Given the description of an element on the screen output the (x, y) to click on. 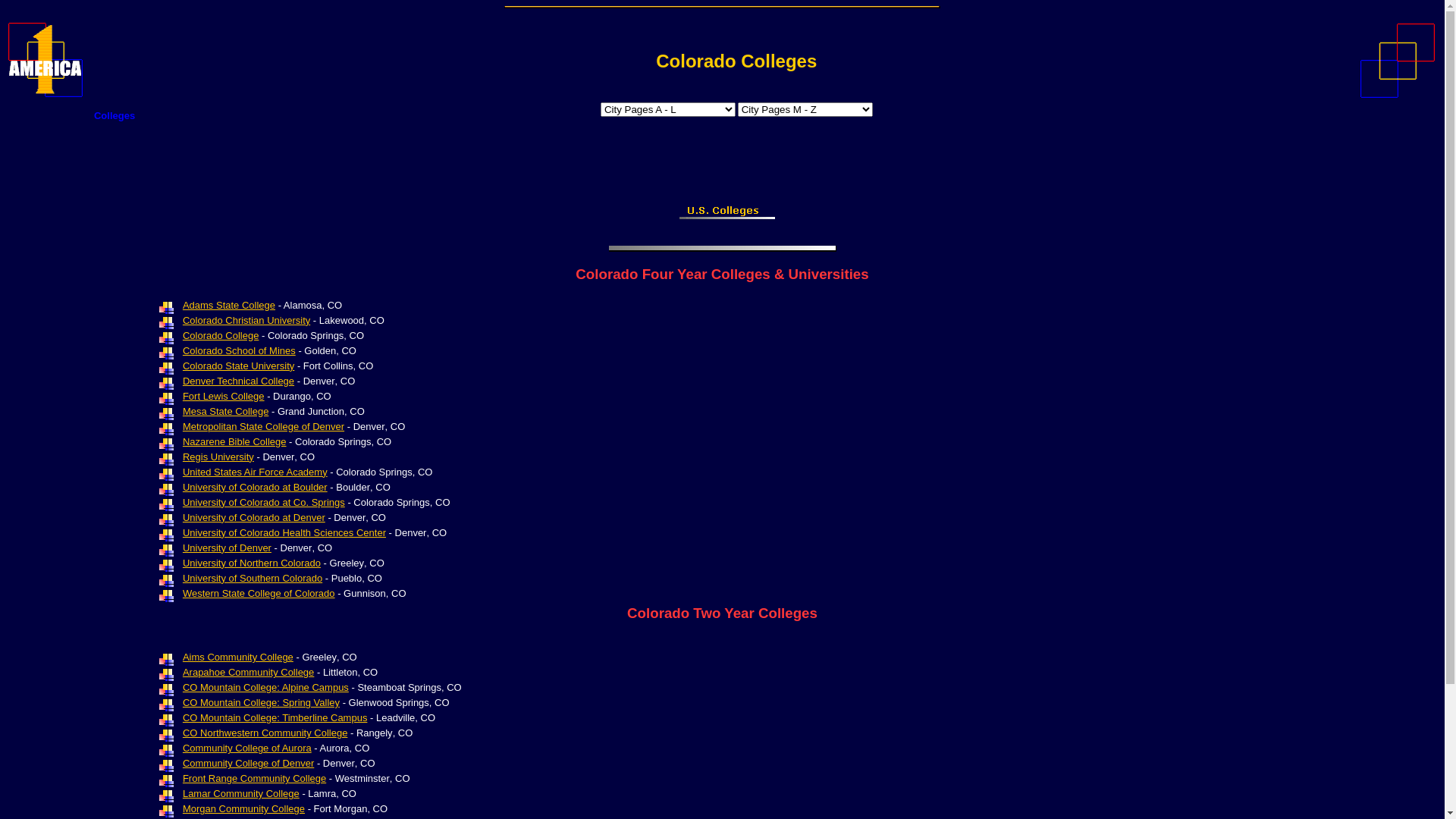
University of Colorado at Co. Springs Element type: text (263, 502)
University of Southern Colorado Element type: text (252, 577)
Western State College of Colorado Element type: text (258, 593)
Colorado Christian University Element type: text (246, 320)
Community College of Denver Element type: text (247, 762)
Arapahoe Community College Element type: text (247, 671)
Mesa State College Element type: text (225, 411)
Adams State College Element type: text (228, 304)
University of Colorado Health Sciences Center Element type: text (283, 532)
Metropolitan State College of Denver Element type: text (263, 426)
University of Northern Colorado Element type: text (251, 562)
Fort Lewis College Element type: text (223, 395)
Nazarene Bible College Element type: text (234, 441)
University of Denver Element type: text (226, 547)
CO Northwestern Community College Element type: text (264, 732)
Colorado State University Element type: text (238, 365)
United States Air Force Academy Element type: text (254, 471)
CO Mountain College: Timberline Campus Element type: text (274, 717)
CO Mountain College: Spring Valley Element type: text (260, 702)
University of Colorado at Boulder Element type: text (254, 486)
Colorado School of Mines Element type: text (238, 350)
Aims Community College Element type: text (237, 656)
Front Range Community College Element type: text (254, 778)
Regis University Element type: text (218, 456)
University of Colorado at Denver Element type: text (253, 517)
Morgan Community College Element type: text (243, 808)
Colorado College Element type: text (220, 335)
Lamar Community College Element type: text (240, 793)
Community College of Aurora Element type: text (246, 747)
Denver Technical College Element type: text (238, 380)
CO Mountain College: Alpine Campus Element type: text (265, 687)
